Given the description of an element on the screen output the (x, y) to click on. 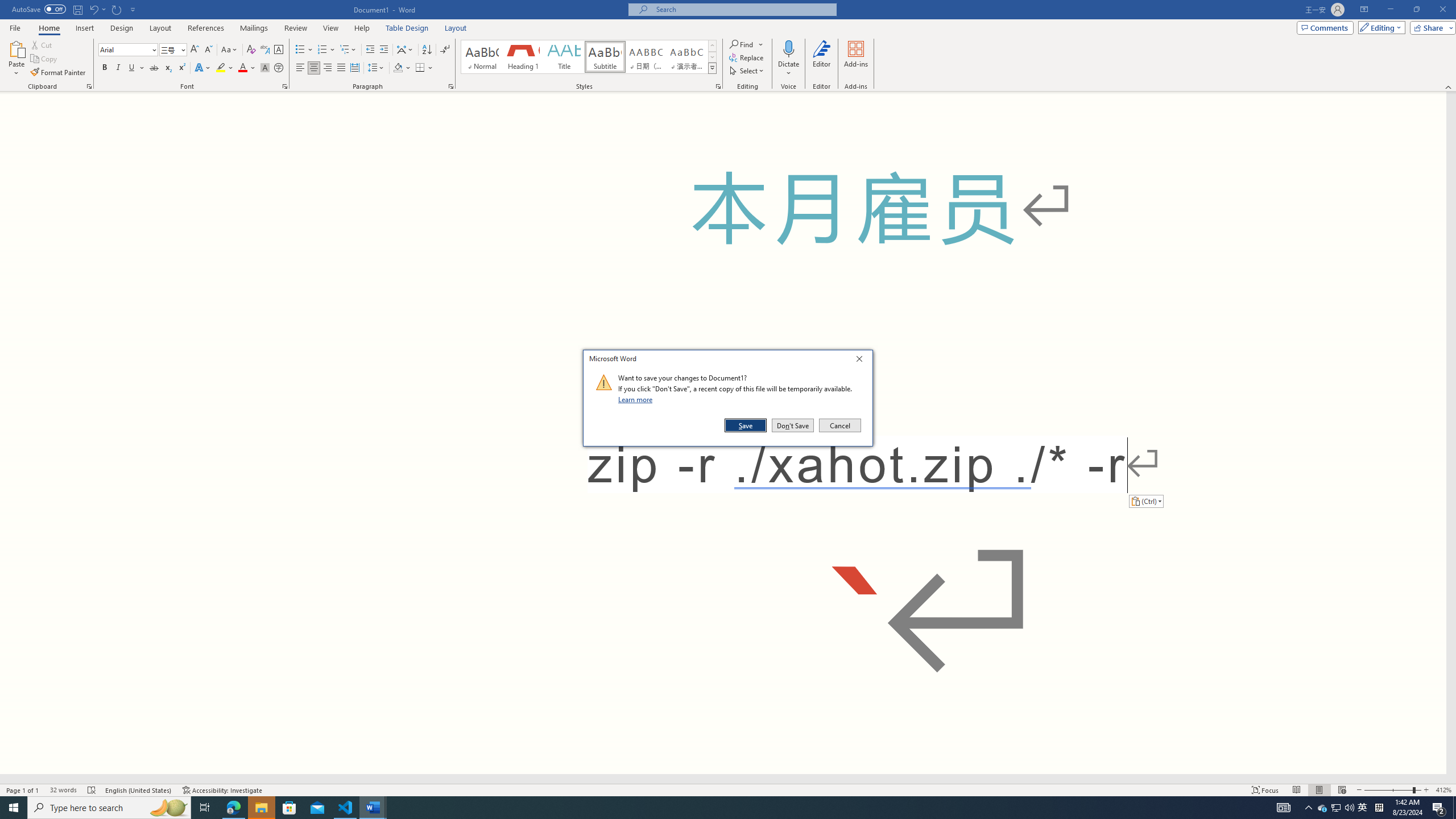
Editing (1379, 27)
Character Border (278, 49)
Microsoft Store (289, 807)
Office Clipboard... (88, 85)
Spelling and Grammar Check Errors (1335, 807)
Italic (91, 790)
Cancel (118, 67)
Multilevel List (839, 425)
